Given the description of an element on the screen output the (x, y) to click on. 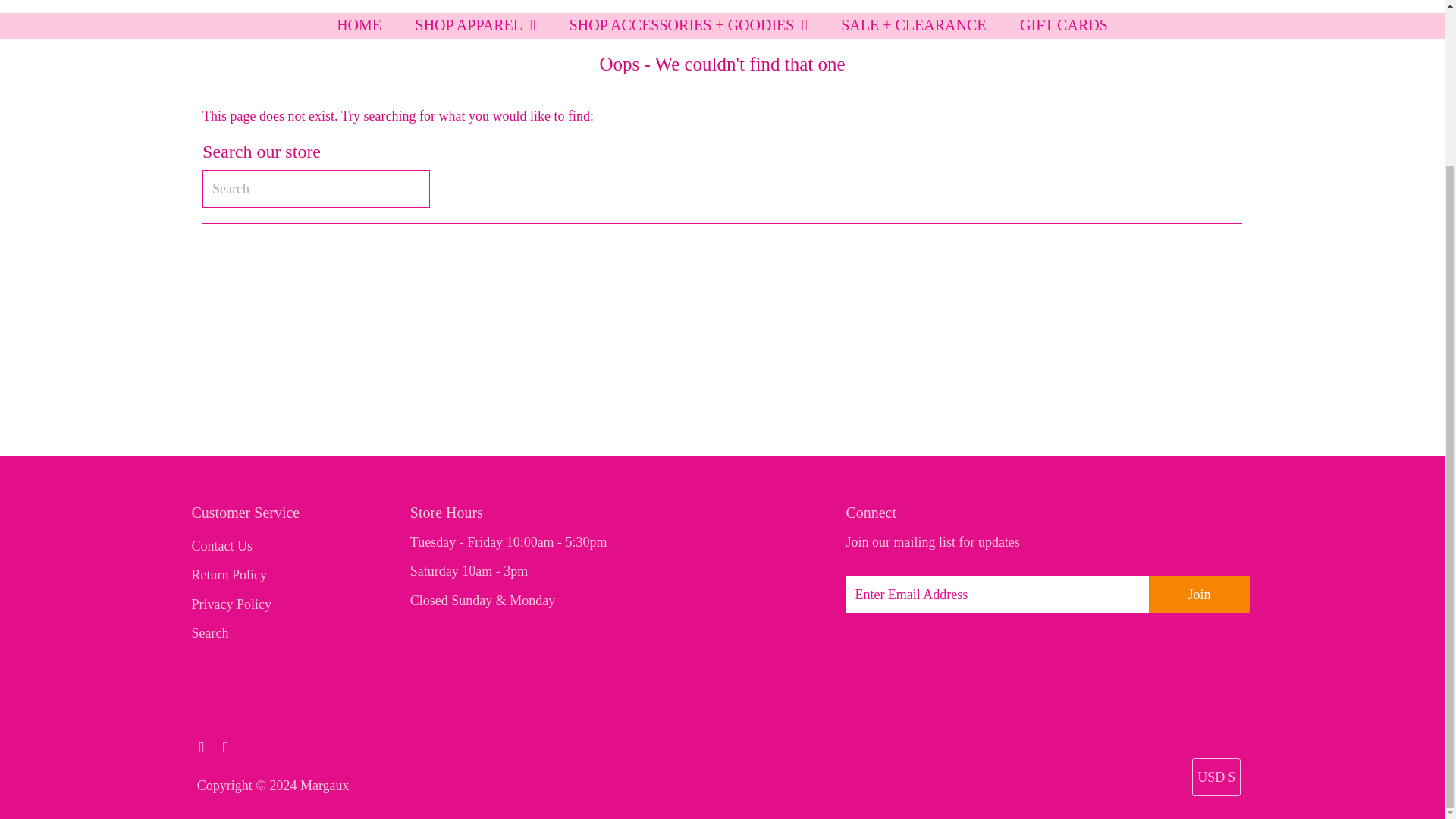
HOME (358, 24)
Join (1198, 594)
SHOP APPAREL (475, 24)
